Given the description of an element on the screen output the (x, y) to click on. 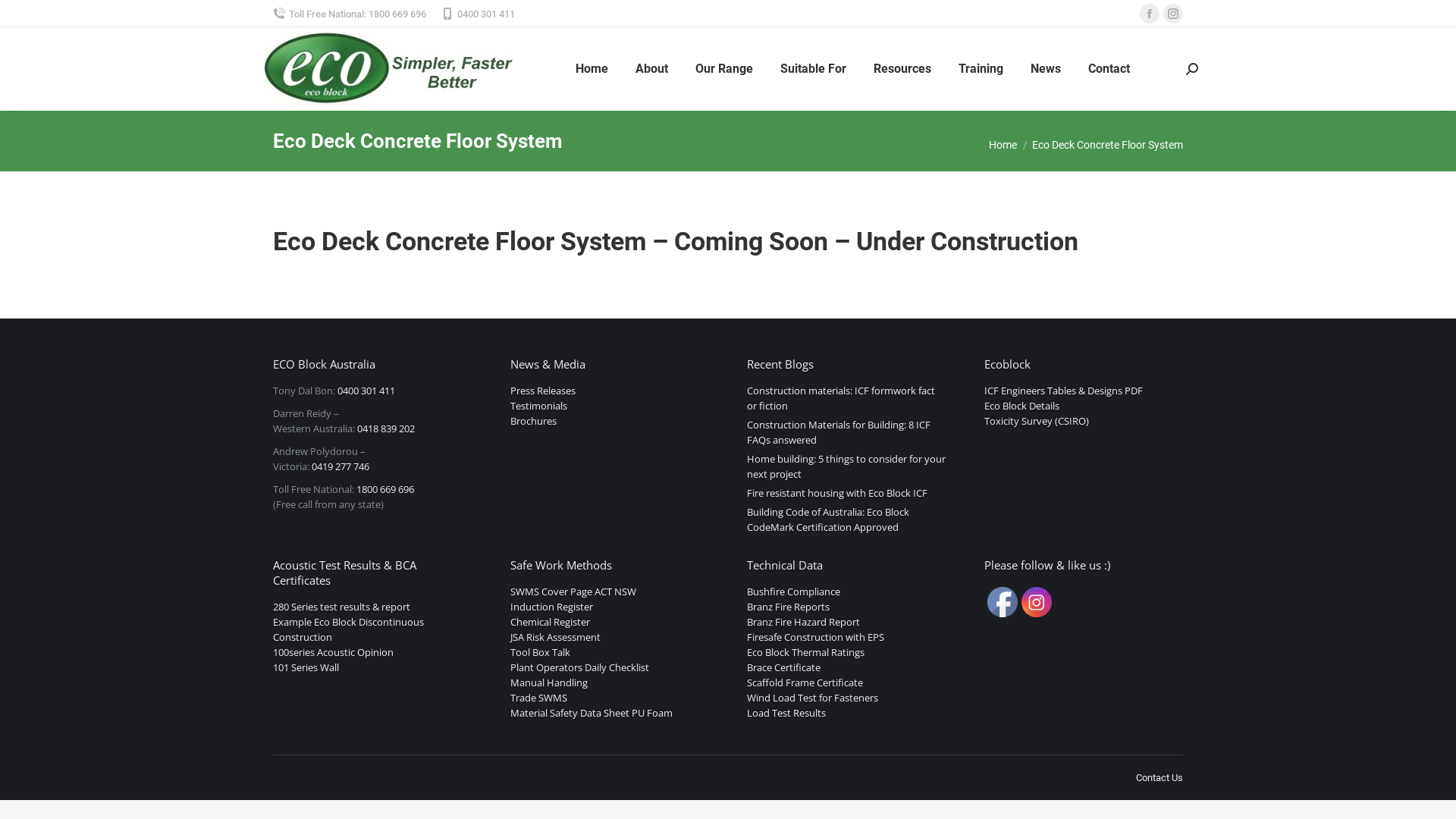
Facebook Element type: hover (1002, 601)
Our Range Element type: text (724, 68)
Eco Block Details Element type: text (1021, 405)
0418 839 202 Element type: text (385, 428)
Wind Load Test for Fasteners Element type: text (812, 697)
Go! Element type: text (23, 16)
Testimonials Element type: text (537, 405)
Branz Fire Hazard Report Element type: text (802, 621)
100series Acoustic Opinion Element type: text (333, 651)
About Element type: text (651, 68)
ICF Engineers Tables & Designs PDF Element type: text (1063, 390)
Trade SWMS Element type: text (537, 697)
Press Releases Element type: text (541, 390)
SWMS Cover Page ACT NSW Element type: text (572, 591)
Chemical Register Element type: text (549, 621)
101 Series Wall Element type: text (305, 667)
Fire resistant housing with Eco Block ICF Element type: text (836, 492)
Home Element type: text (1002, 144)
Instagram page opens in new window Element type: text (1173, 13)
Scaffold Frame Certificate Element type: text (804, 682)
0400 301 411 Element type: text (477, 13)
Eco Block Thermal Ratings Element type: text (805, 651)
Example Eco Block Discontinuous Construction Element type: text (348, 629)
Load Test Results Element type: text (785, 712)
Brace Certificate Element type: text (783, 667)
Plant Operators Daily Checklist Element type: text (578, 667)
Brochures Element type: text (532, 420)
Facebook page opens in new window Element type: text (1149, 13)
Firesafe Construction with EPS Element type: text (815, 636)
Contact Us Element type: text (1159, 777)
Resources Element type: text (902, 68)
JSA Risk Assessment Element type: text (554, 636)
News Element type: text (1045, 68)
1800 669 696 Element type: text (385, 488)
Induction Register Element type: text (550, 606)
Instagram Element type: hover (1035, 601)
Branz Fire Reports Element type: text (787, 606)
Tool Box Talk Element type: text (539, 651)
Suitable For Element type: text (813, 68)
Material Safety Data Sheet PU Foam Element type: text (590, 712)
Toxicity Survey (CSIRO) Element type: text (1036, 420)
Home building: 5 things to consider for your next project Element type: text (846, 466)
Construction Materials for Building: 8 ICF FAQs answered Element type: text (846, 432)
Manual Handling Element type: text (547, 682)
Toll Free National: 1800 669 696 Element type: text (349, 13)
280 Series test results & report Element type: text (341, 606)
Bushfire Compliance Element type: text (793, 591)
0419 277 746 Element type: text (340, 466)
0400 301 411 Element type: text (366, 390)
Contact Element type: text (1108, 68)
Home Element type: text (591, 68)
Construction materials: ICF formwork fact or fiction Element type: text (846, 397)
Training Element type: text (980, 68)
